Given the description of an element on the screen output the (x, y) to click on. 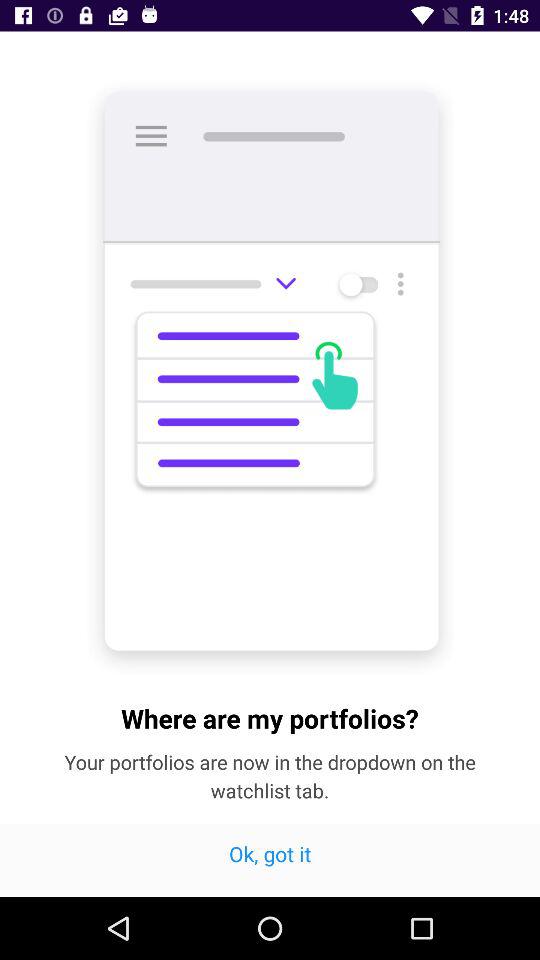
tap icon below your portfolios are (270, 859)
